Given the description of an element on the screen output the (x, y) to click on. 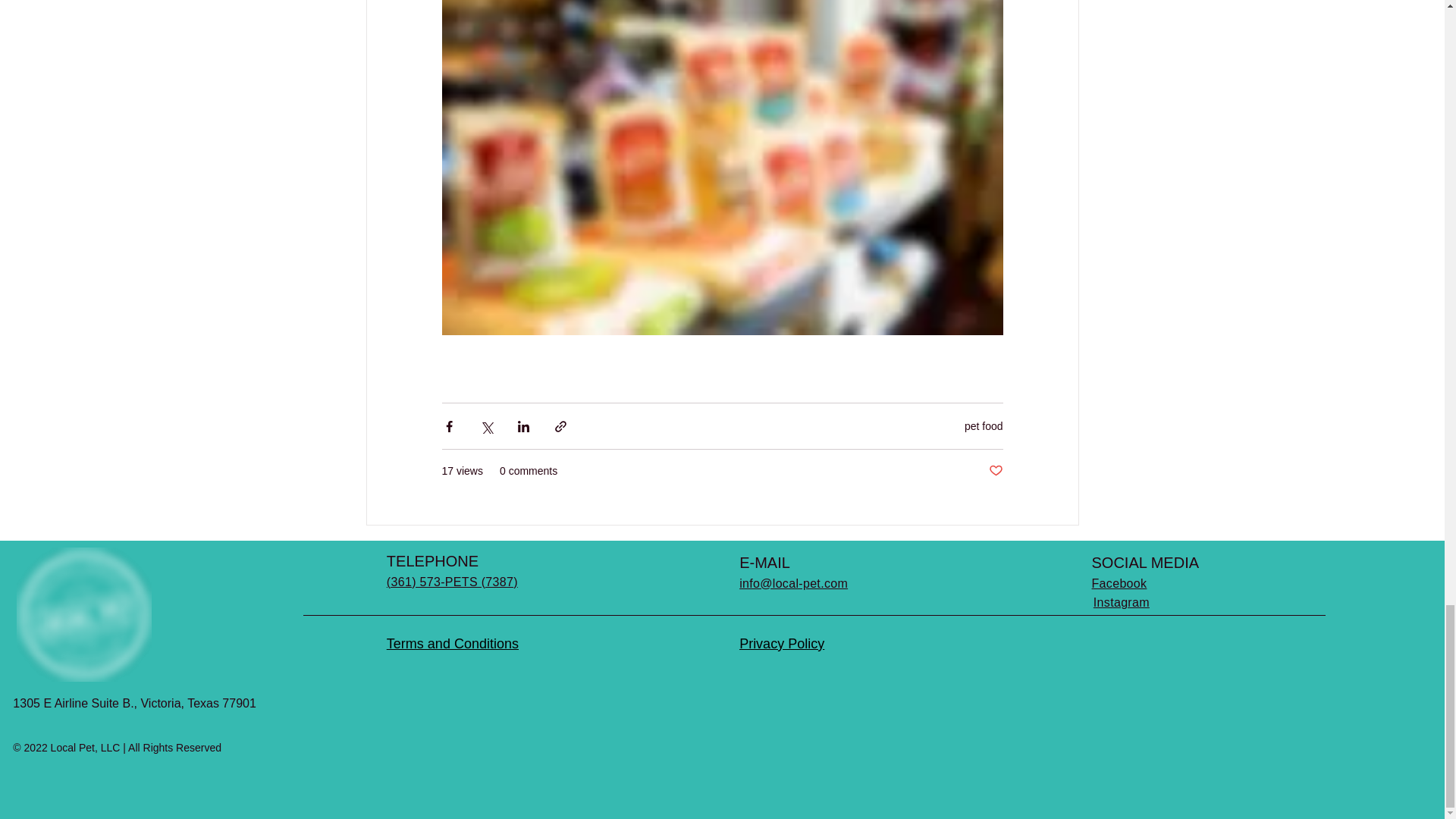
Facebook (1119, 583)
Post not marked as liked (995, 471)
Terms and Conditions (452, 643)
Instagram (1121, 602)
Privacy Policy (781, 643)
pet food (983, 426)
